Given the description of an element on the screen output the (x, y) to click on. 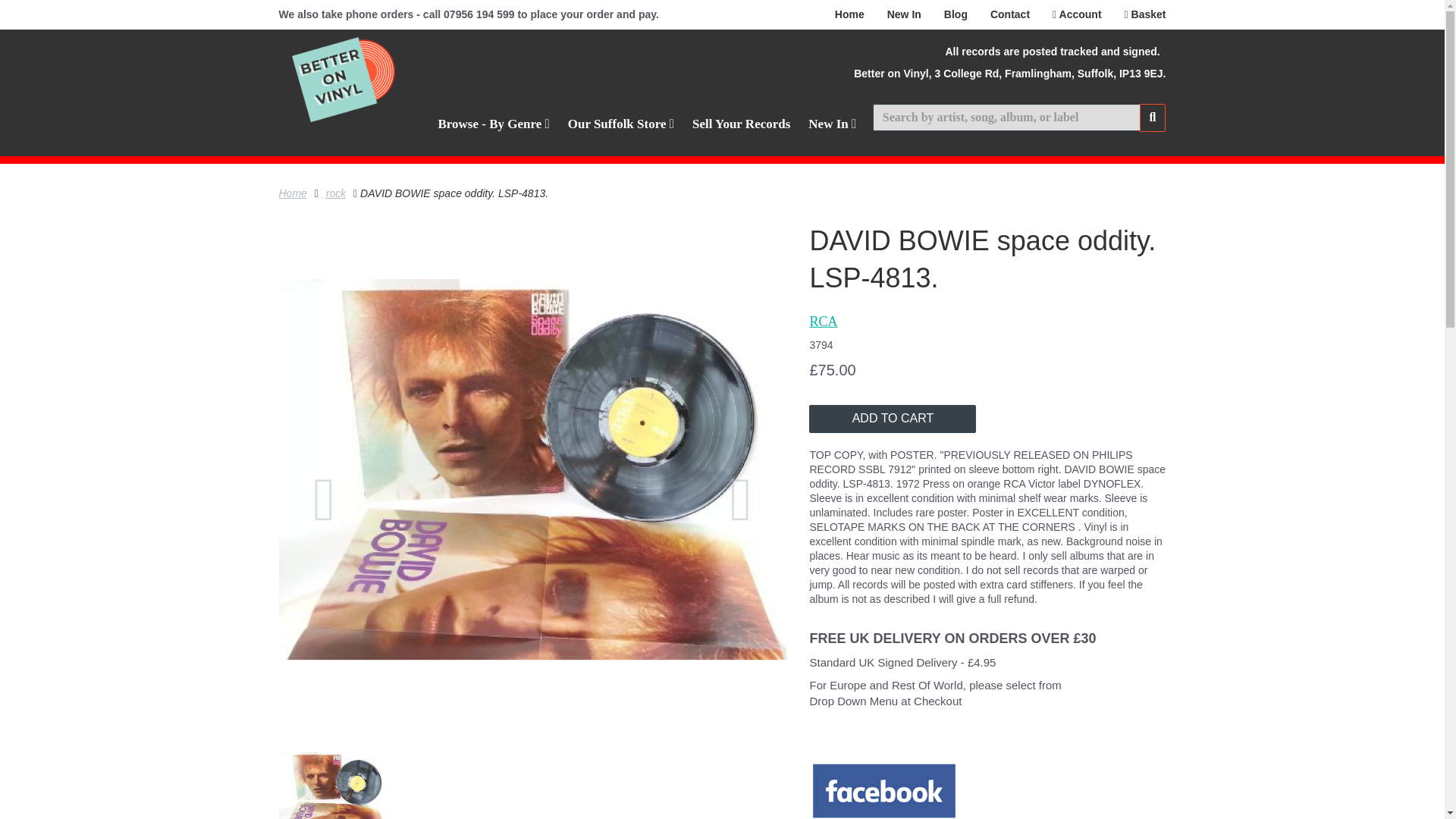
Home (850, 14)
Our Suffolk Store (620, 124)
Account (1077, 14)
Contact (1009, 14)
Blog (955, 14)
New In (831, 124)
Sell Your Records (740, 124)
New In (904, 14)
Basket (1145, 14)
Browse - By Genre (493, 124)
